Given the description of an element on the screen output the (x, y) to click on. 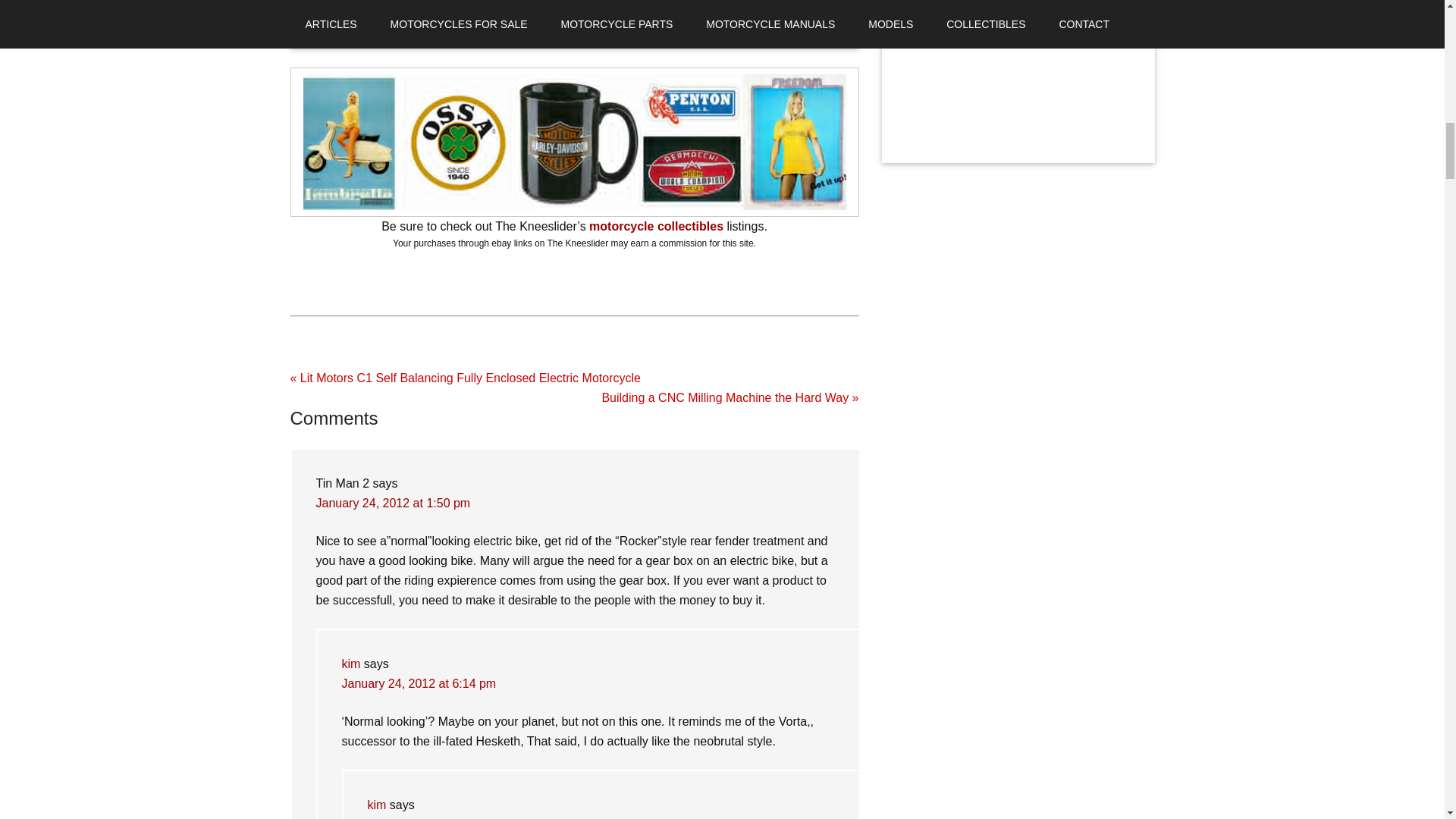
motorcycle collectibles (656, 226)
Bill Vukovitch Drake Harley Davidson powered midget racer (1017, 9)
kim (349, 663)
kim (375, 804)
January 24, 2012 at 1:50 pm (392, 502)
January 24, 2012 at 6:14 pm (418, 683)
